Given the description of an element on the screen output the (x, y) to click on. 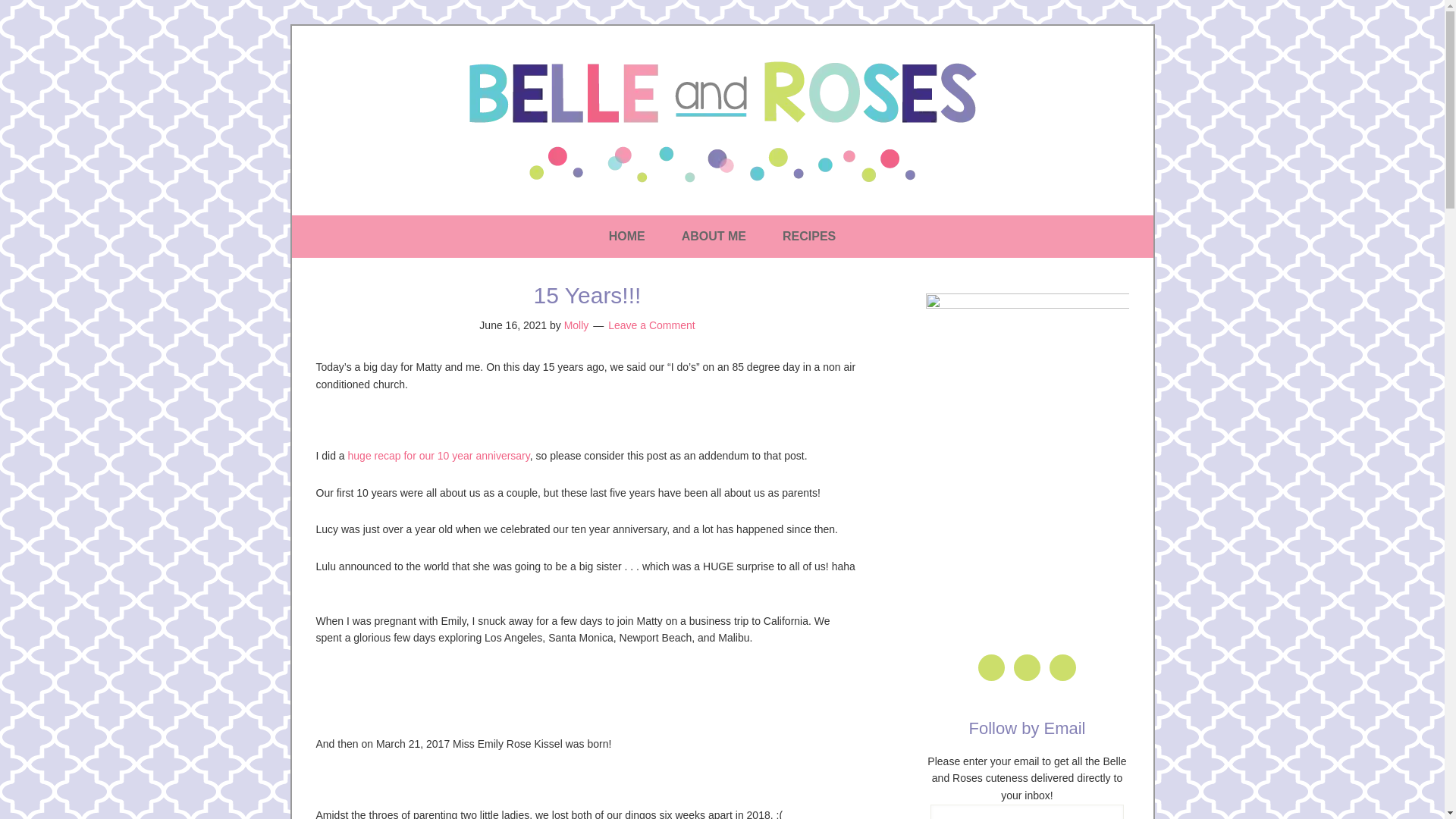
HOME (627, 236)
RECIPES (808, 236)
Leave a Comment (651, 325)
Molly (576, 325)
ABOUT ME (713, 236)
huge recap for our 10 year anniversary (438, 455)
